Given the description of an element on the screen output the (x, y) to click on. 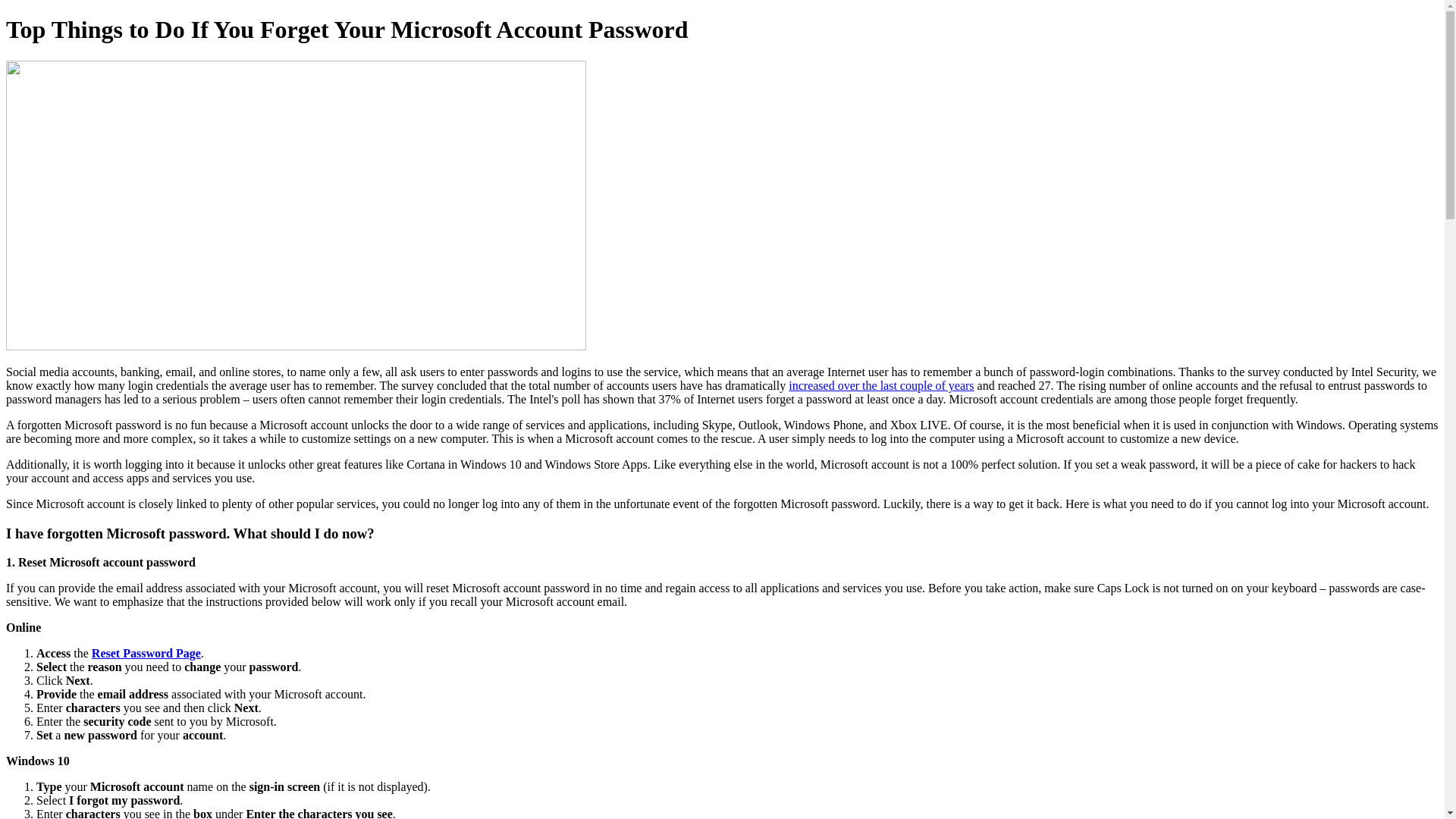
Reset Password Page (145, 653)
Survey Says: People Have Way Too Many Passwords To Remember (881, 385)
Reset Password Page (145, 653)
increased over the last couple of years (881, 385)
